Given the description of an element on the screen output the (x, y) to click on. 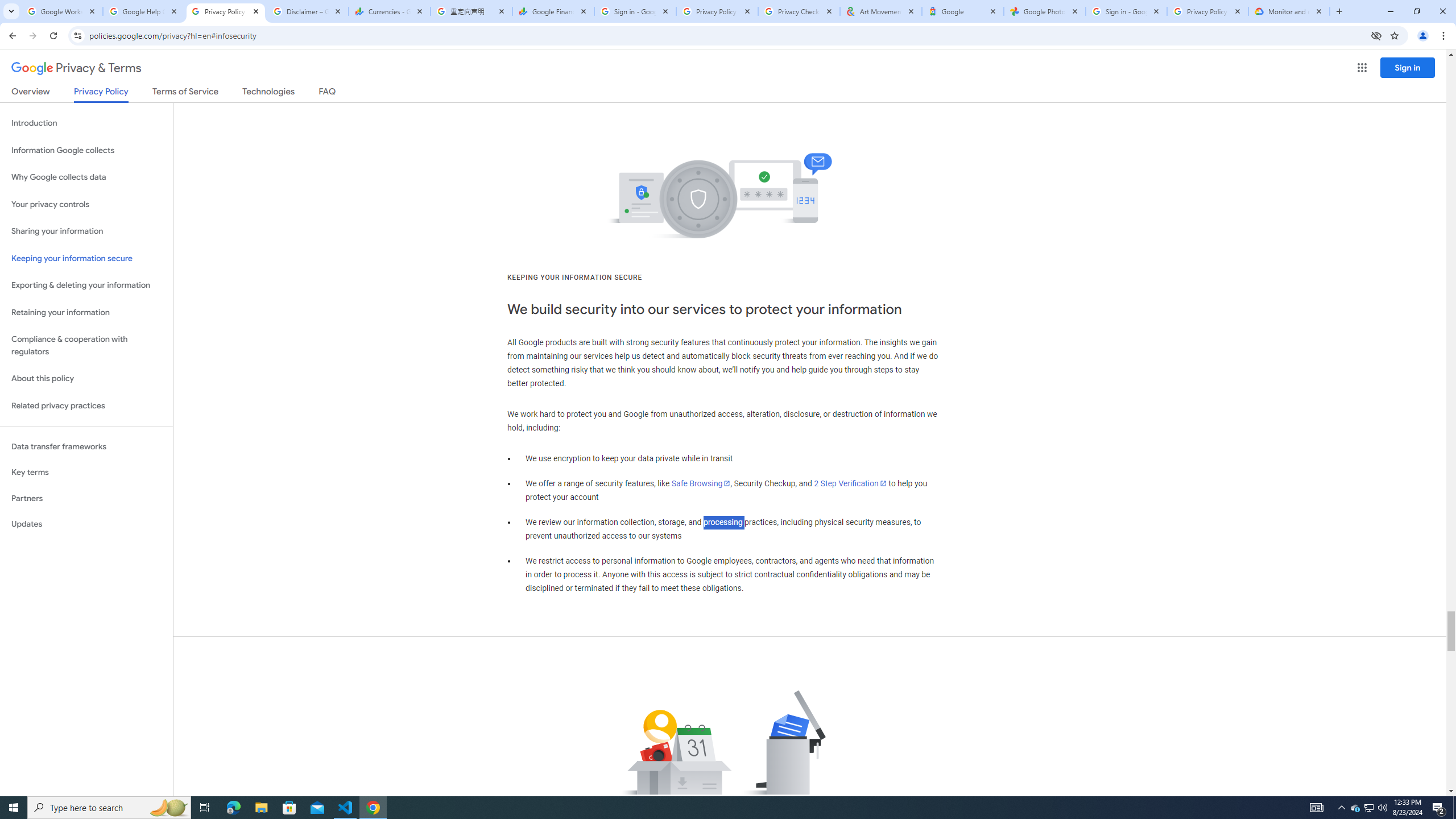
Sign in - Google Accounts (635, 11)
Privacy Checkup (798, 11)
Safe Browsing (700, 483)
